Given the description of an element on the screen output the (x, y) to click on. 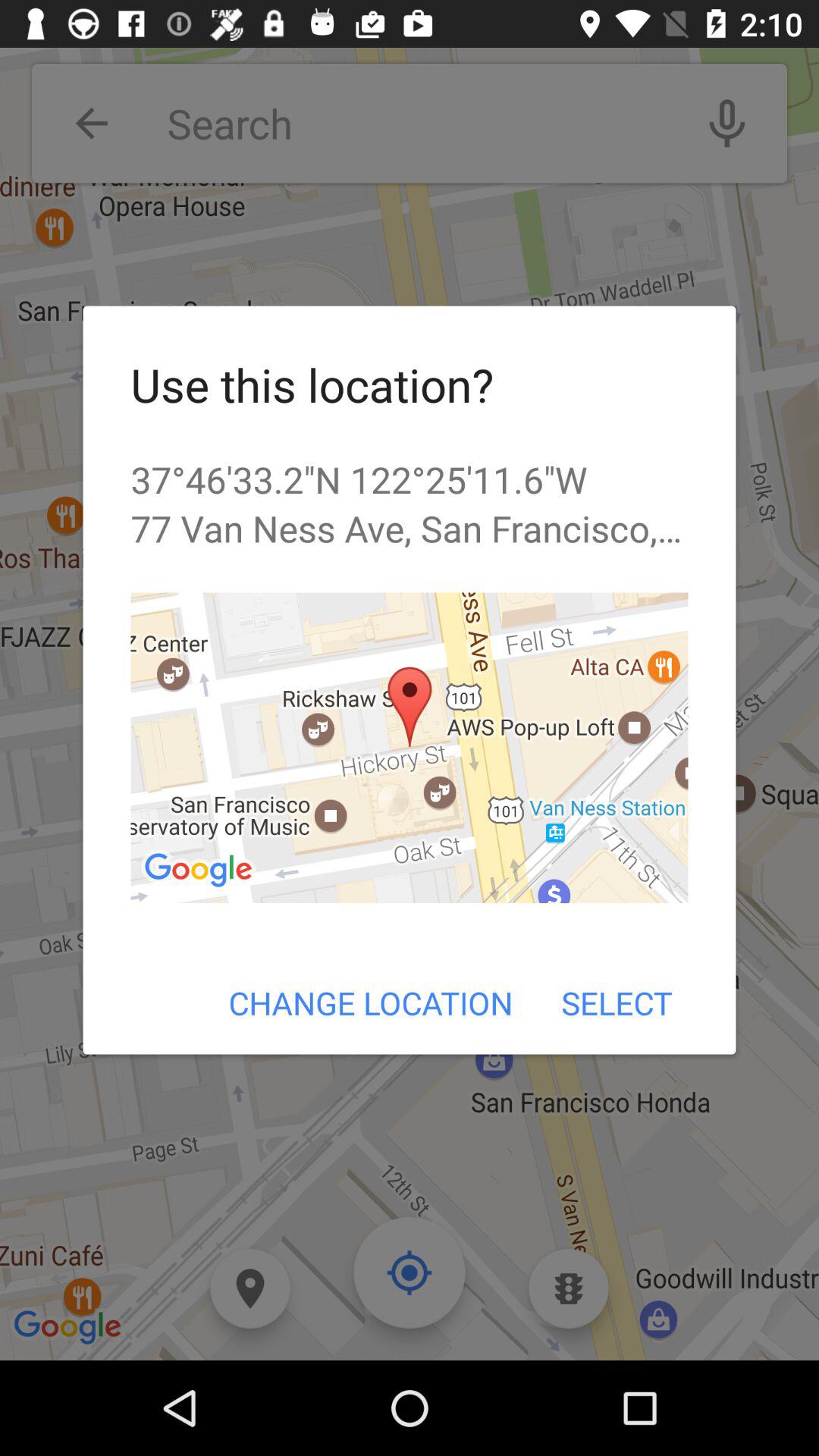
click the icon above the change location (409, 747)
